Given the description of an element on the screen output the (x, y) to click on. 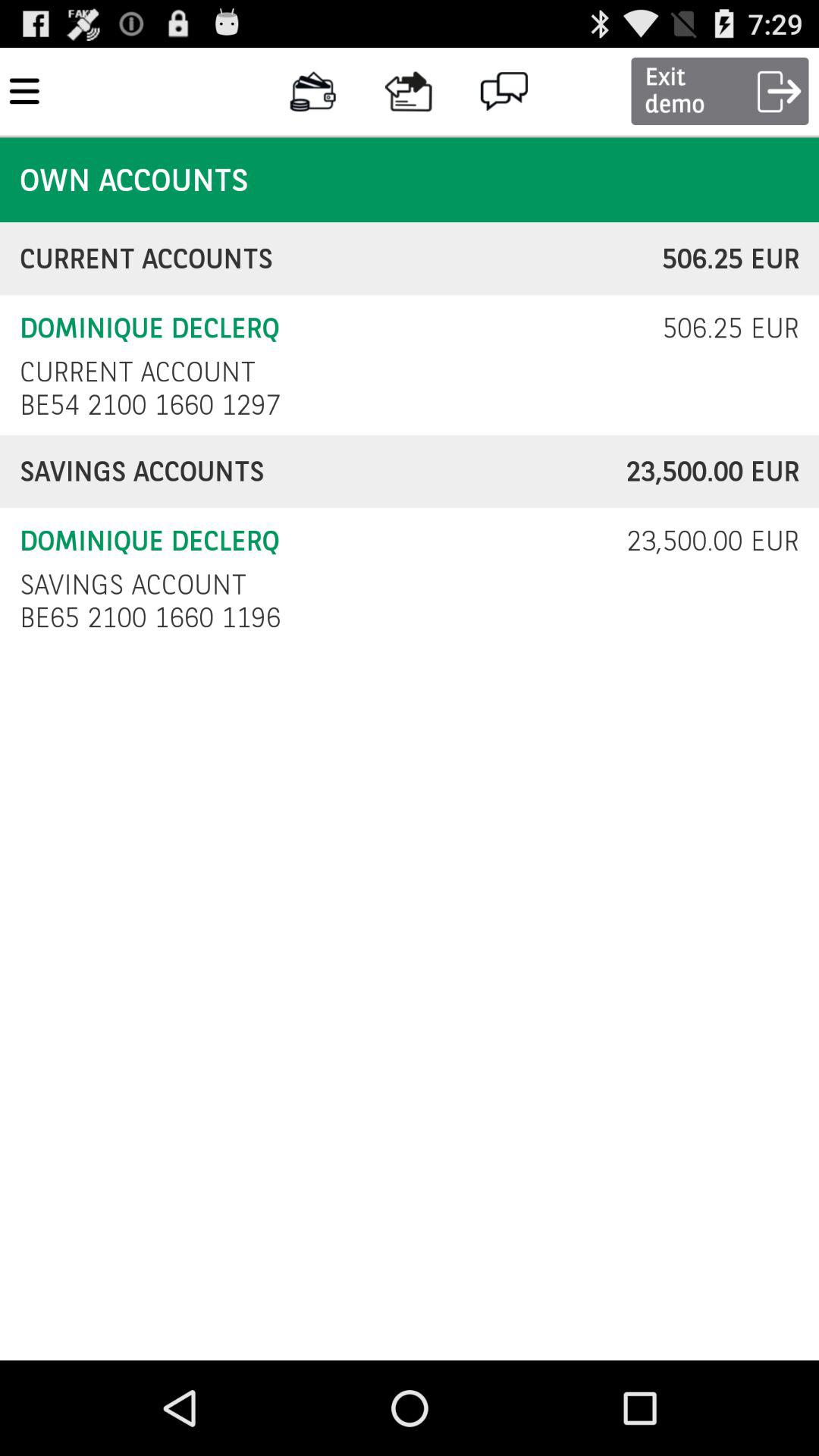
click the checkbox below dominique declerq item (132, 584)
